Given the description of an element on the screen output the (x, y) to click on. 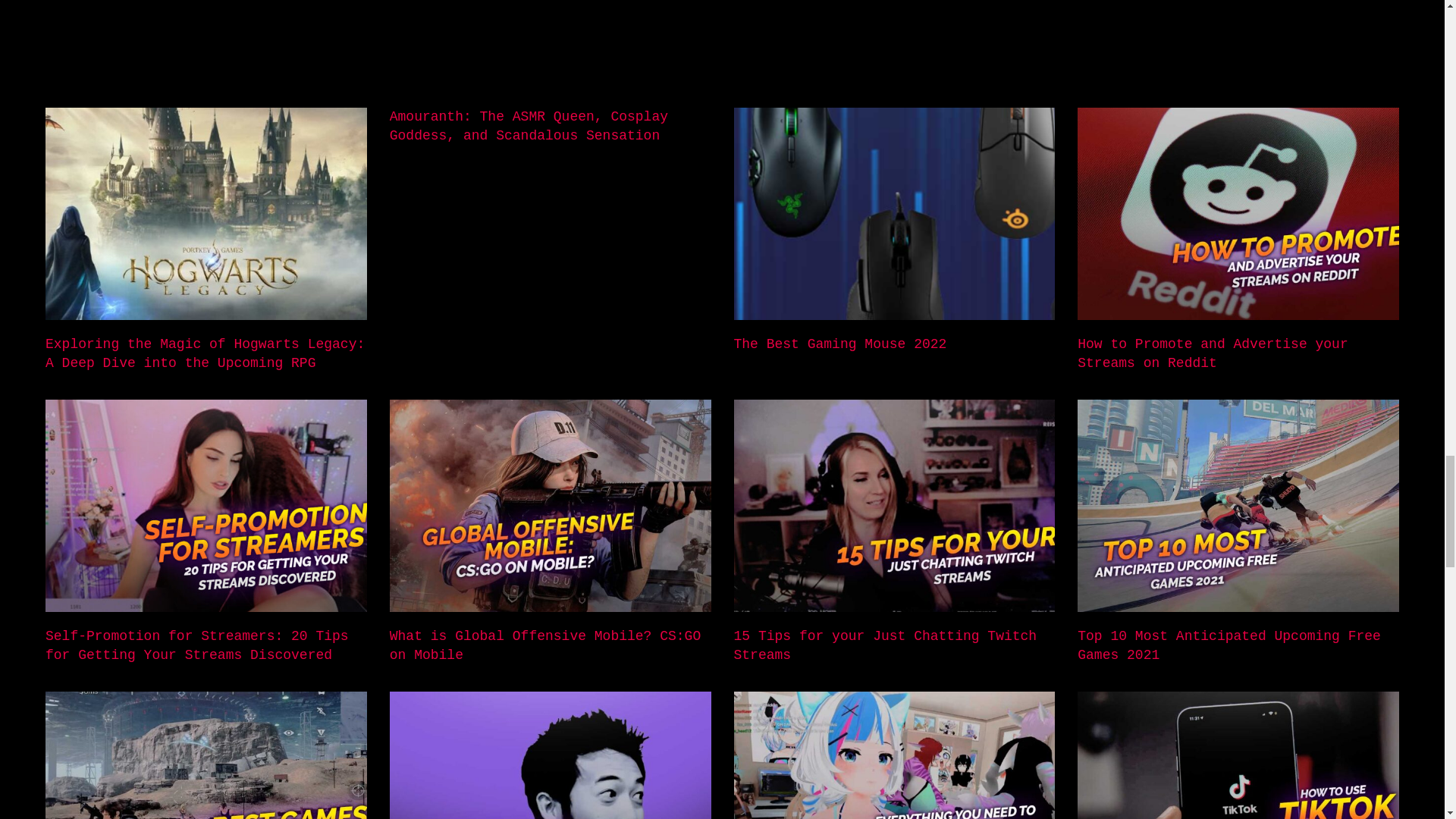
How to Promote and Advertise your Streams on Reddit (1212, 353)
15 Tips for your Just Chatting Twitch Streams (884, 645)
Advertisement (470, 49)
What is Global Offensive Mobile? CS:GO on Mobile (545, 645)
The Best Gaming Mouse 2022 (840, 344)
Top 10 Most Anticipated Upcoming Free Games 2021 (1228, 645)
